Given the description of an element on the screen output the (x, y) to click on. 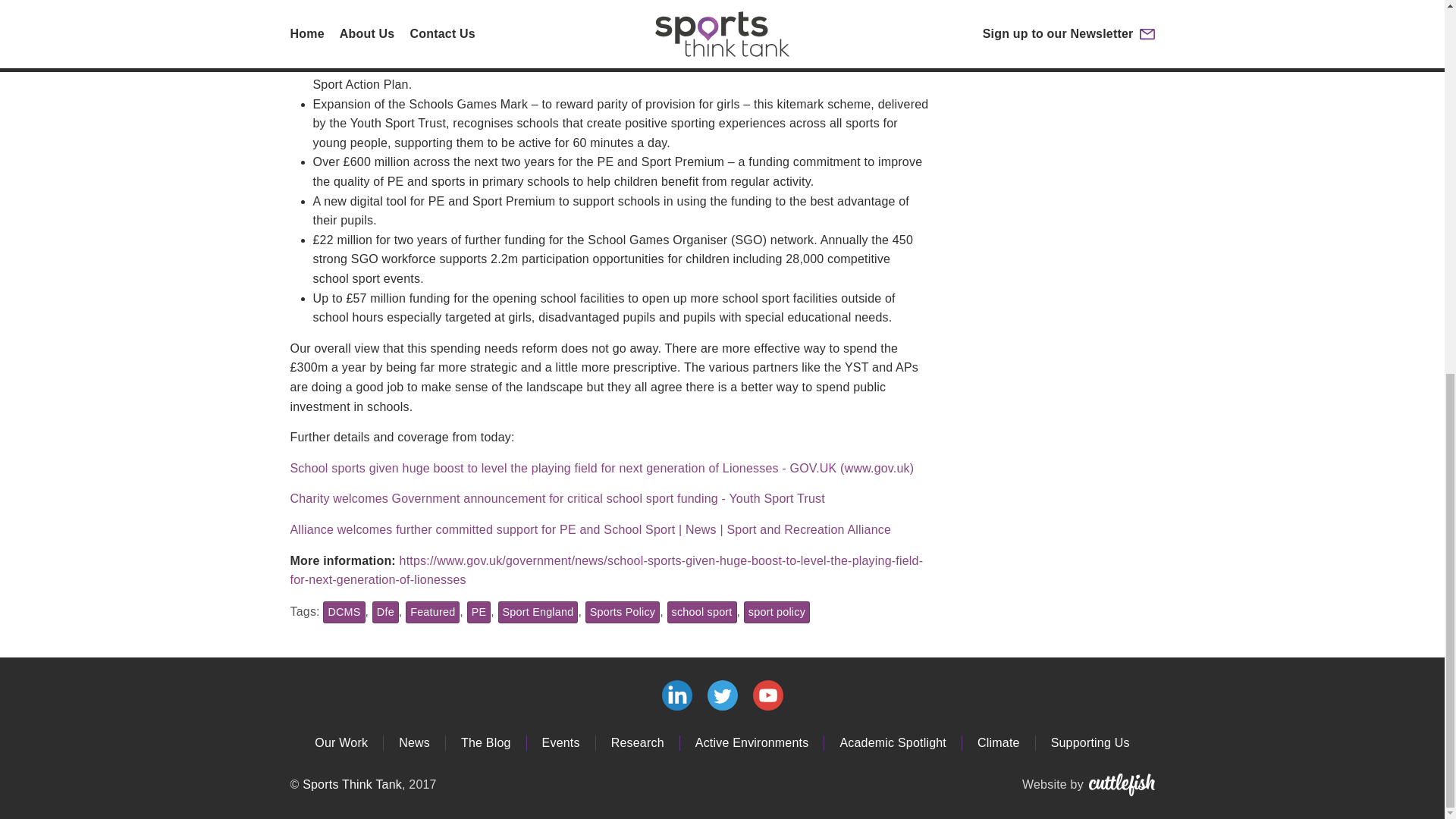
Connect with us on LinkedIn (676, 695)
Sport England (537, 612)
Follow us on Twitter (721, 695)
Dfe (385, 612)
Sports Policy (623, 612)
Subscribe to us on YouTube (767, 695)
Featured (433, 612)
PE (479, 612)
DCMS (344, 612)
